Given the description of an element on the screen output the (x, y) to click on. 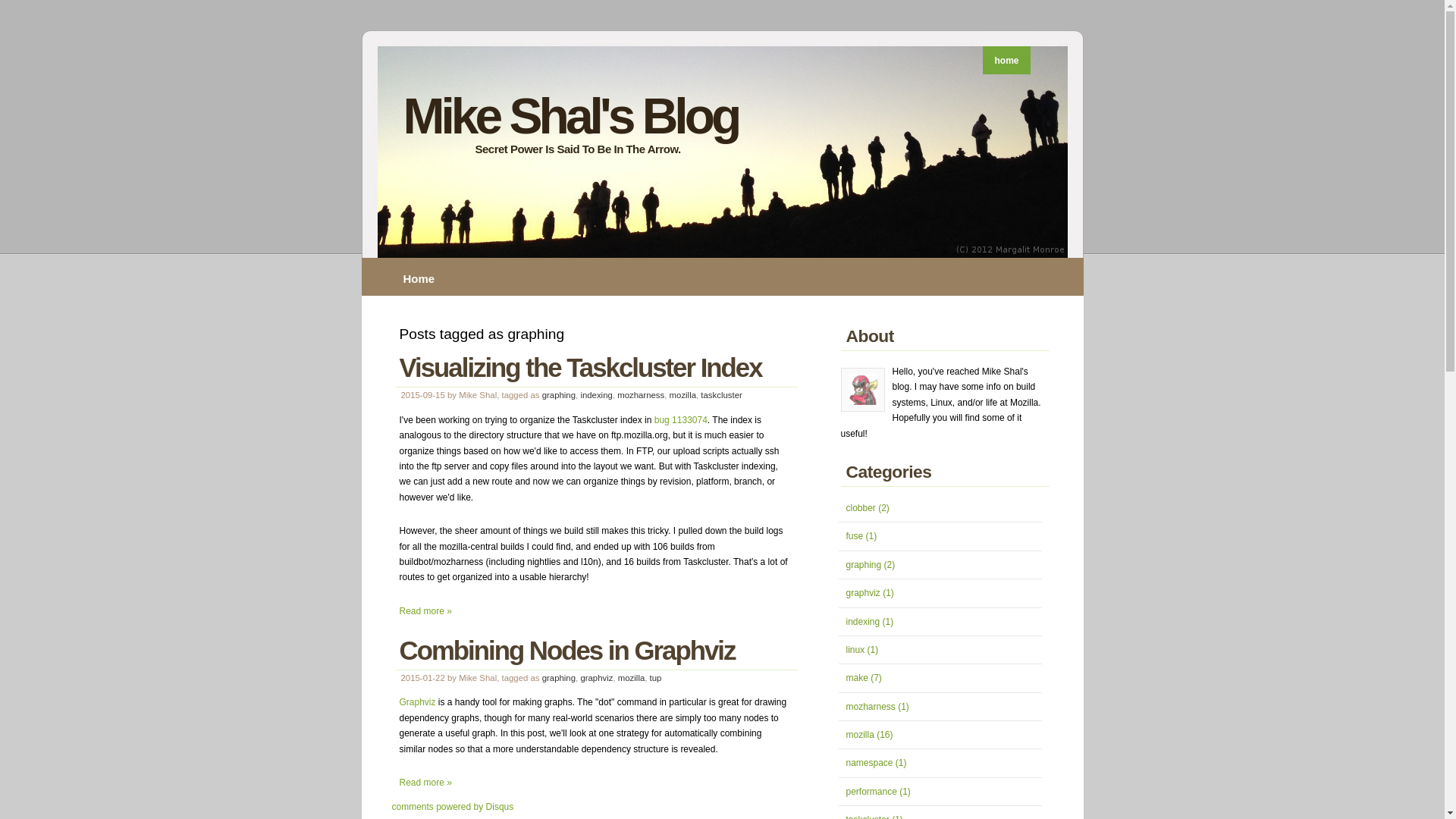
taskcluster (720, 394)
mozilla (682, 394)
comments powered by Disqus (452, 806)
mozharness (640, 394)
graphing (558, 677)
Combining Nodes in Graphviz (566, 650)
mozilla (631, 677)
Mike Shal's Blog (570, 115)
indexing (595, 394)
bug 1133074 (680, 419)
home (1005, 60)
graphviz (595, 677)
Home (421, 278)
tup (655, 677)
Visualizing the Taskcluster Index (579, 367)
